Given the description of an element on the screen output the (x, y) to click on. 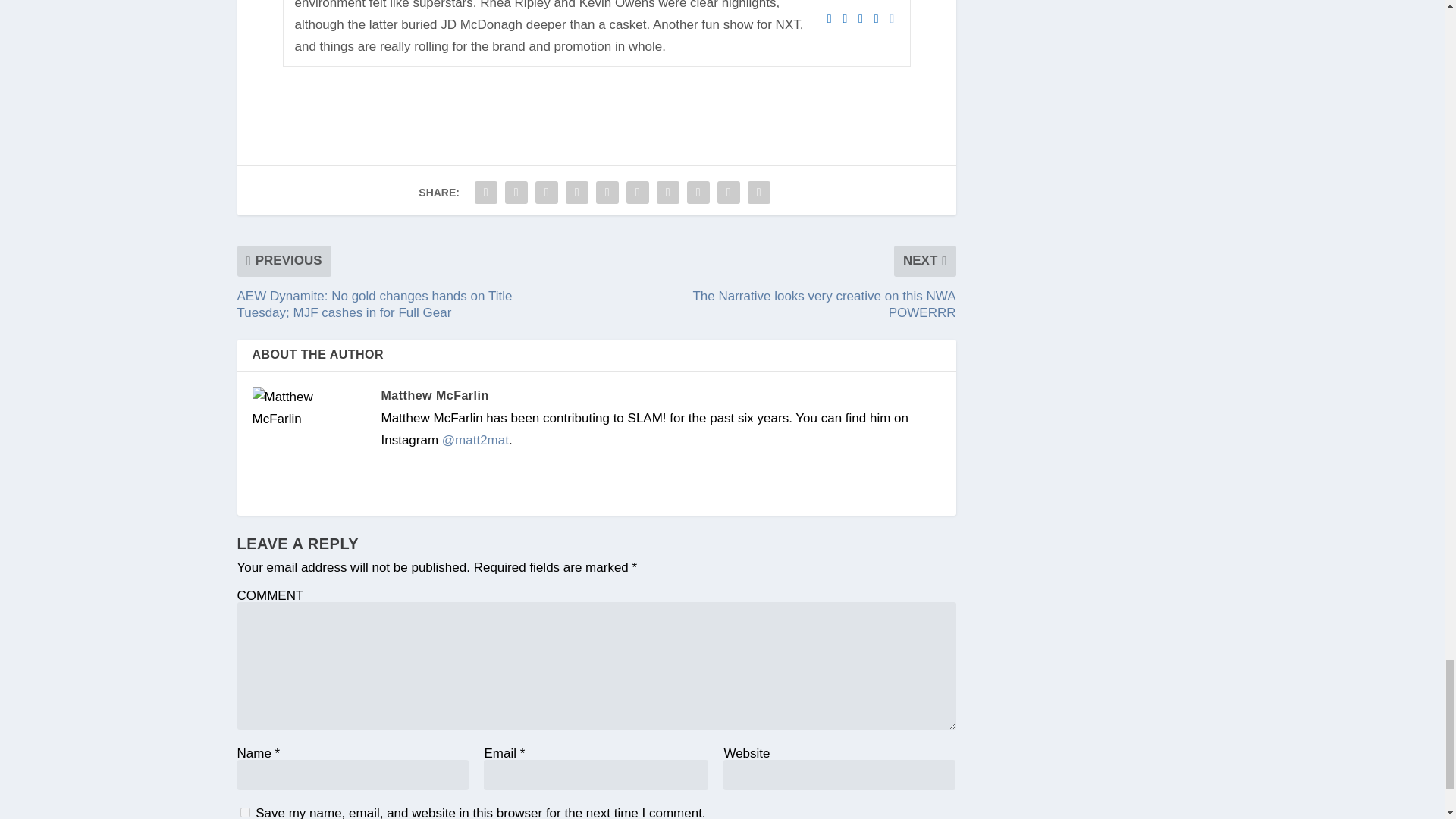
View all posts by Matthew McFarlin (433, 395)
yes (244, 812)
Matthew McFarlin (433, 395)
